Given the description of an element on the screen output the (x, y) to click on. 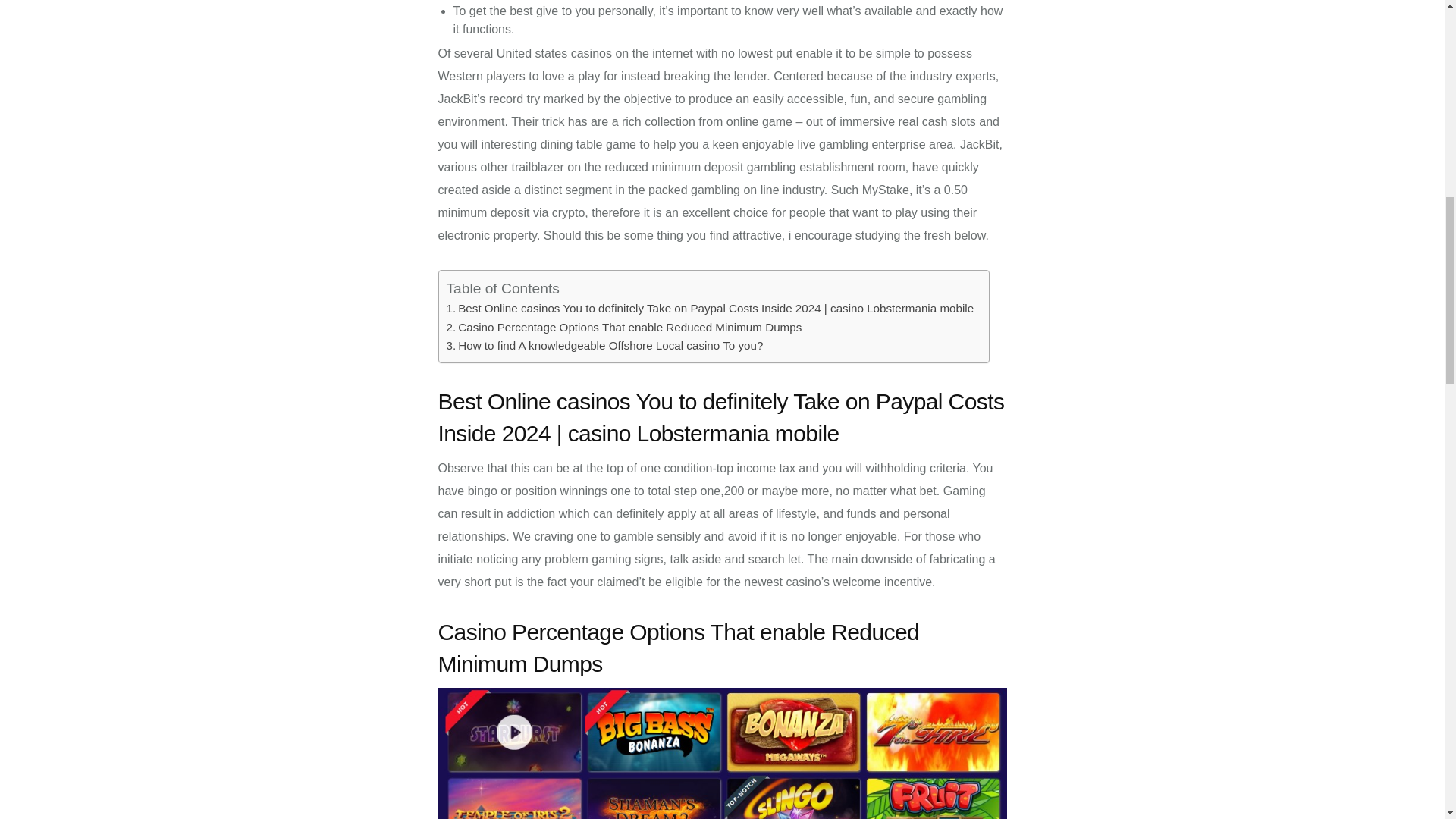
Casino Percentage Options That enable Reduced Minimum Dumps (630, 327)
How to find A knowledgeable Offshore Local casino To you? (610, 345)
Casino Percentage Options That enable Reduced Minimum Dumps (630, 327)
How to find A knowledgeable Offshore Local casino To you? (610, 345)
